Given the description of an element on the screen output the (x, y) to click on. 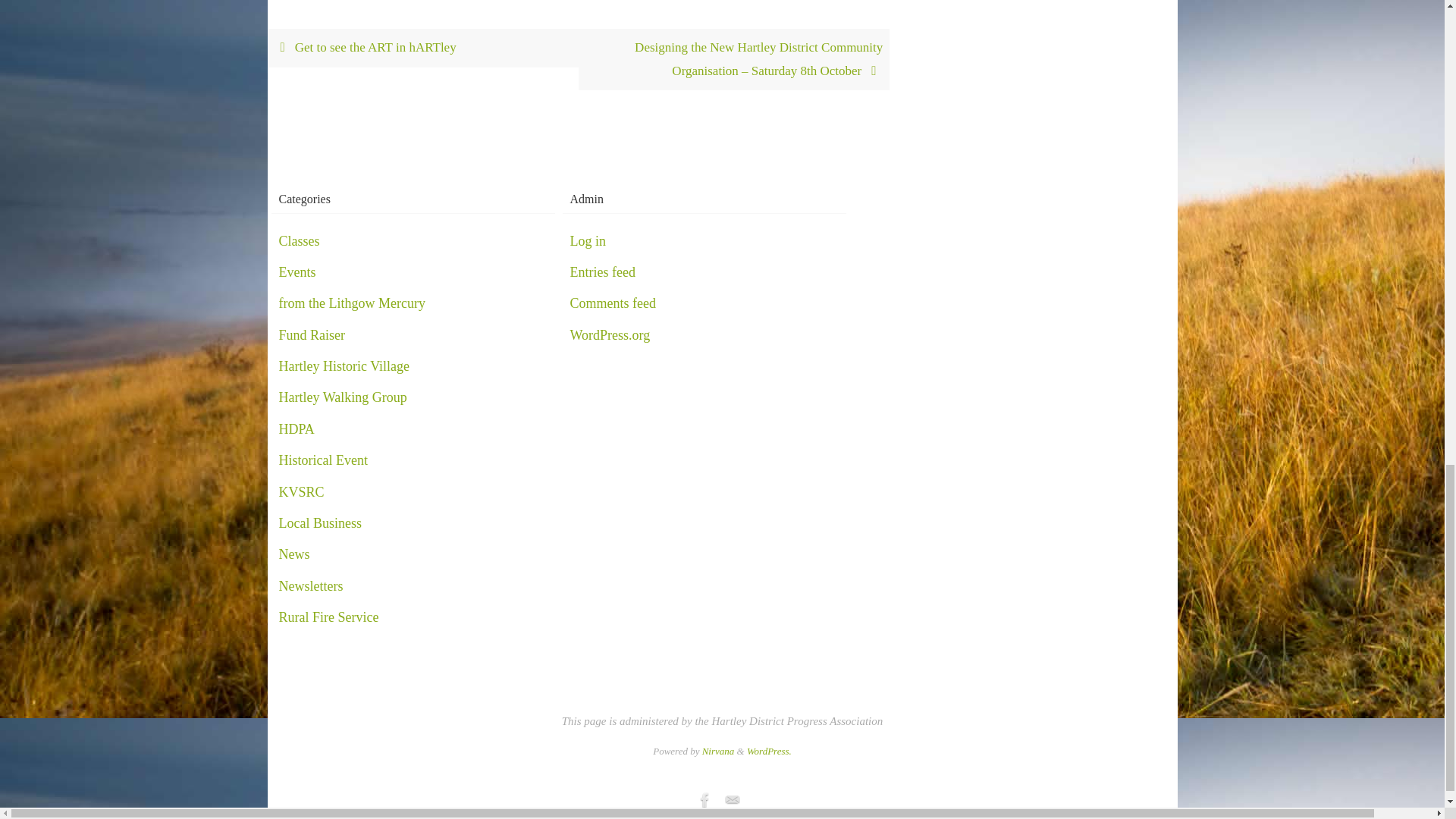
Nirvana Theme by Cryout Creations (718, 750)
Facebook-HDPA (704, 799)
Semantic Personal Publishing Platform (769, 750)
HDPA email address (731, 799)
